Given the description of an element on the screen output the (x, y) to click on. 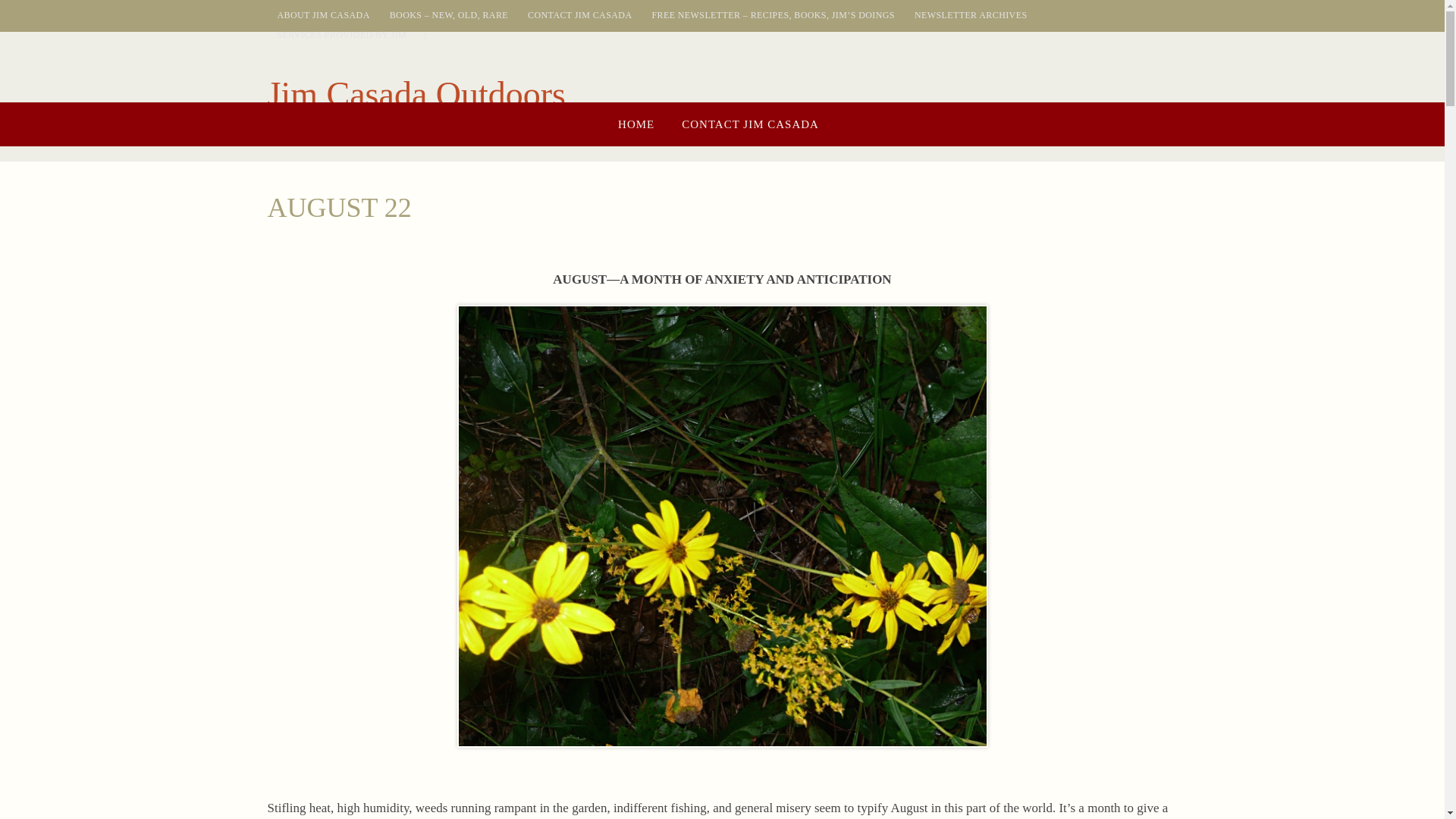
CONTACT JIM CASADA (579, 14)
ABOUT JIM CASADA (323, 14)
NEWSLETTER ARCHIVES (971, 14)
Jim Casada Outdoors (416, 94)
HOME (636, 124)
SERVICES PROVIDED BY JIM (341, 35)
CONTACT JIM CASADA (750, 124)
Jim Casada Outdoors (416, 94)
